Given the description of an element on the screen output the (x, y) to click on. 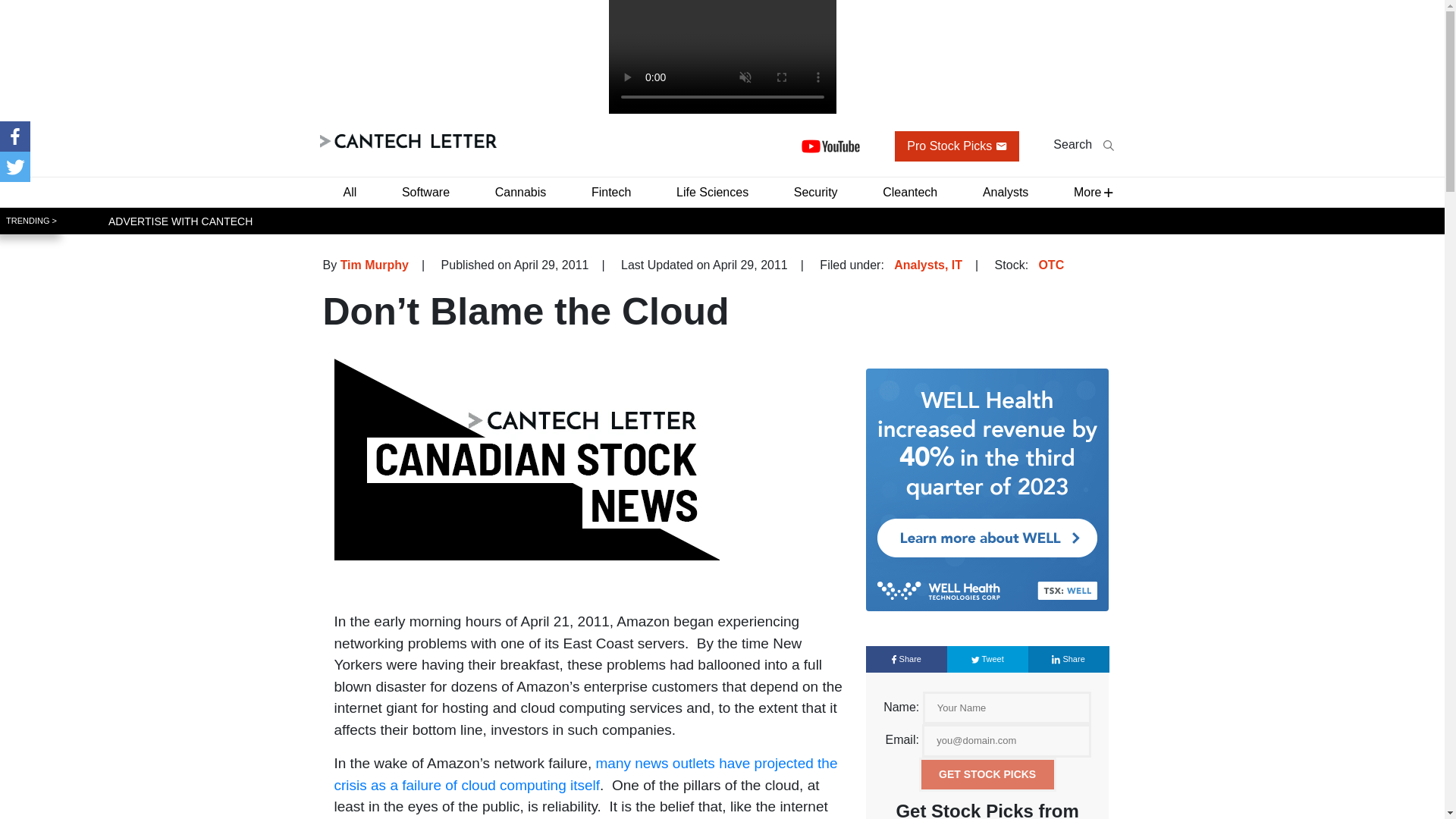
Security (815, 191)
Search (1083, 144)
Facebook (15, 136)
Twitter (15, 166)
GET STOCK PICKS (987, 774)
Life Sciences (711, 191)
Pro Stock Picks (957, 146)
OTC (1051, 264)
Fintech (611, 191)
Cannabis (521, 191)
Cleantech (909, 191)
Tim Murphy (374, 264)
Software (425, 191)
Analysts (1006, 191)
